Given the description of an element on the screen output the (x, y) to click on. 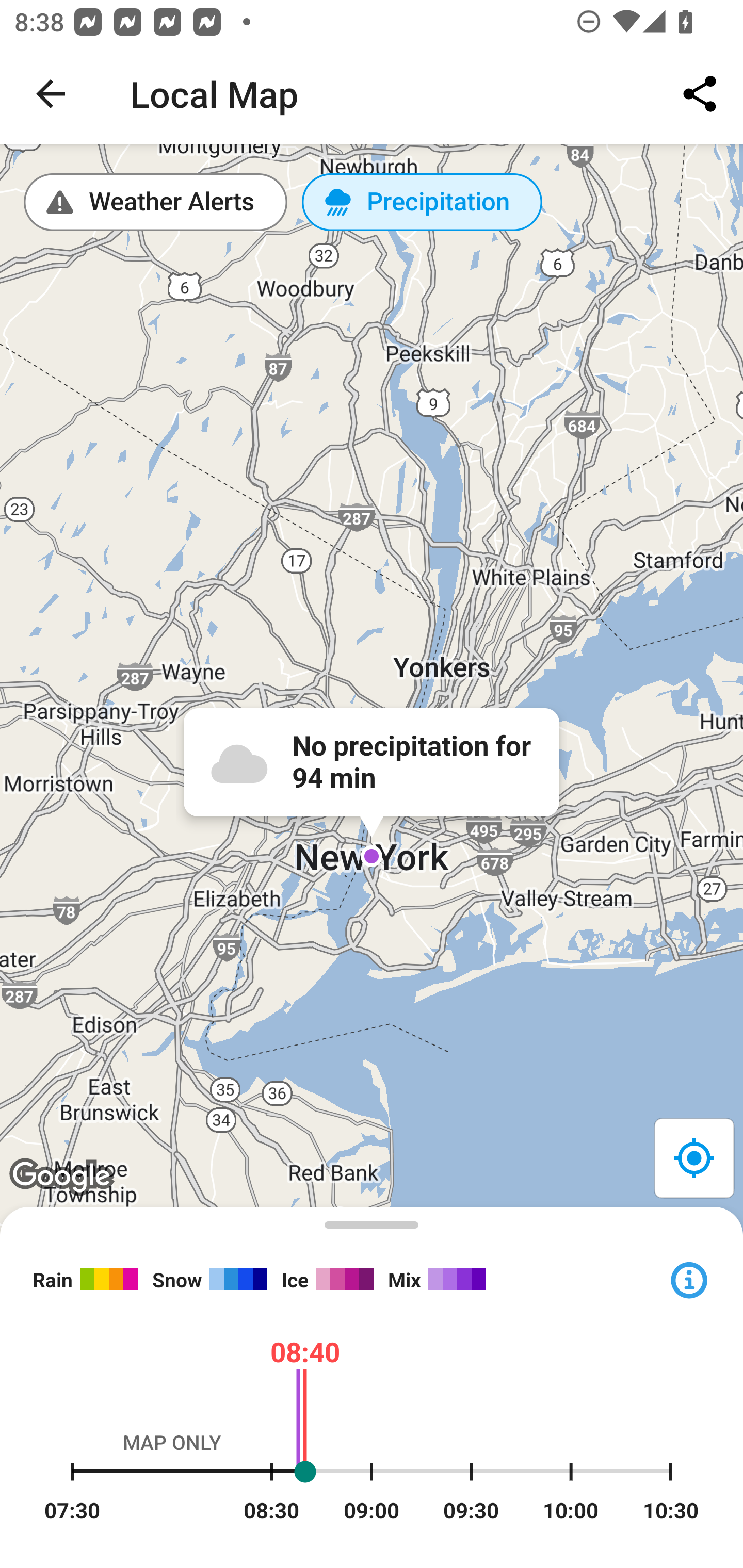
Navigate up (50, 93)
Share (699, 93)
Weather Alerts (155, 202)
Precipitation (421, 202)
My location button (693, 1157)
Map legend info. (688, 1278)
